Given the description of an element on the screen output the (x, y) to click on. 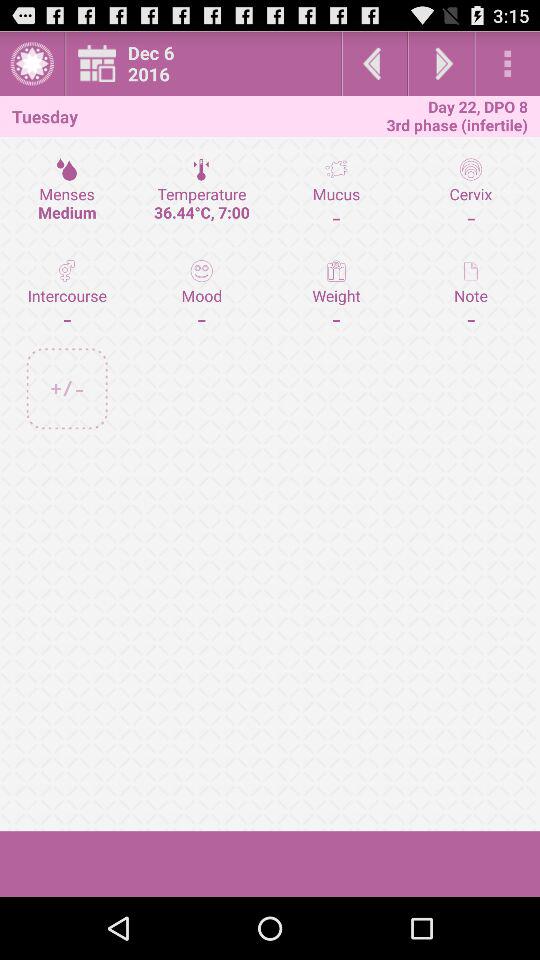
click icon to the right of menses
medium icon (201, 193)
